Given the description of an element on the screen output the (x, y) to click on. 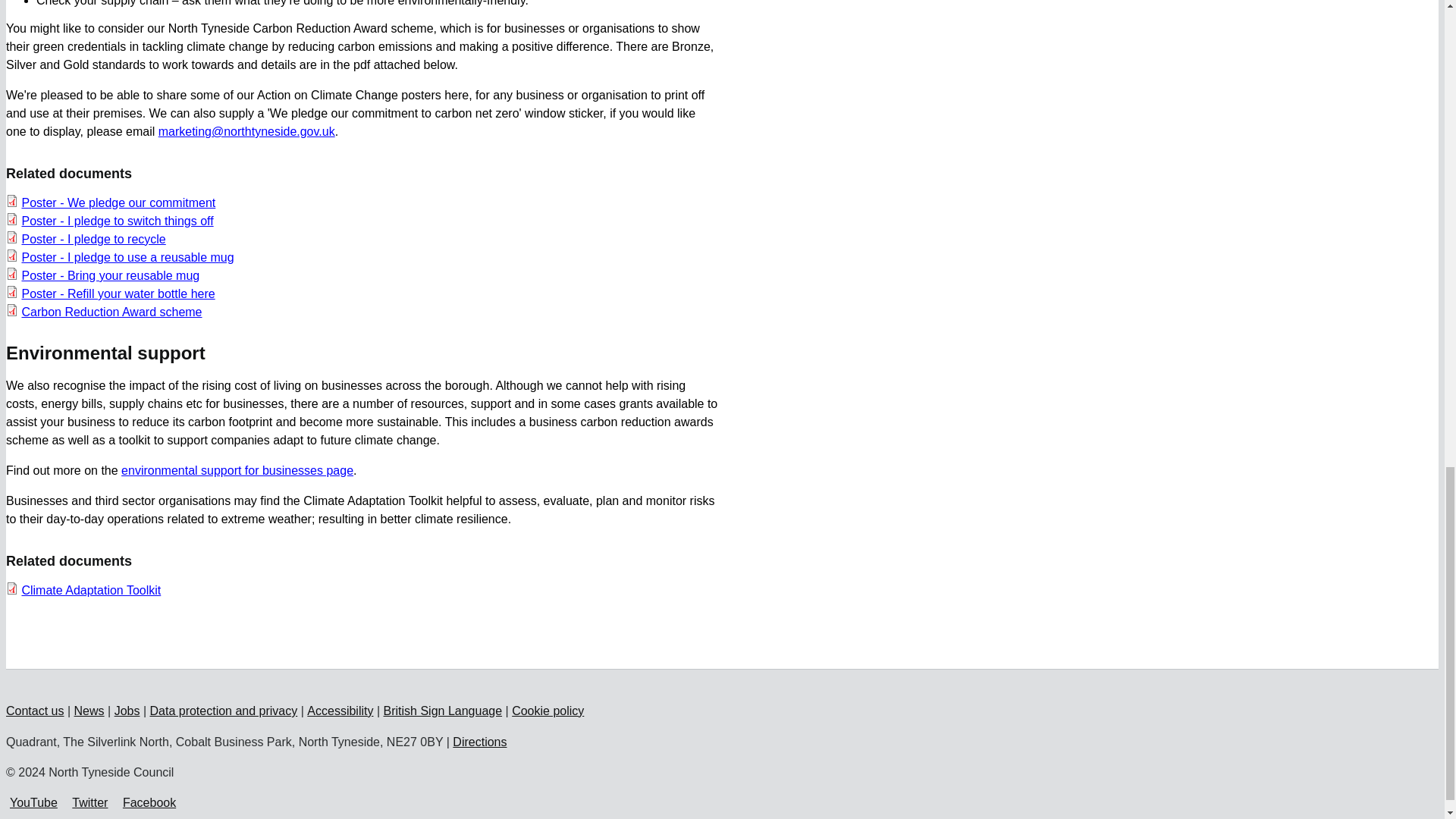
Poster - We pledge our commitment (118, 202)
Cookie policy (547, 710)
environmental support for businesses page (236, 470)
Poster - I pledge to use a reusable mug (126, 256)
Contact us (34, 710)
Data protection and privacy (223, 710)
Accessibility (339, 710)
Jobs (127, 710)
Climate Adaptation Toolkit (90, 590)
Directions (479, 741)
Carbon Reduction Award scheme (111, 311)
News (89, 710)
British Sign Language (443, 710)
Poster - I pledge to switch things off (116, 220)
Poster - I pledge to recycle (93, 238)
